Given the description of an element on the screen output the (x, y) to click on. 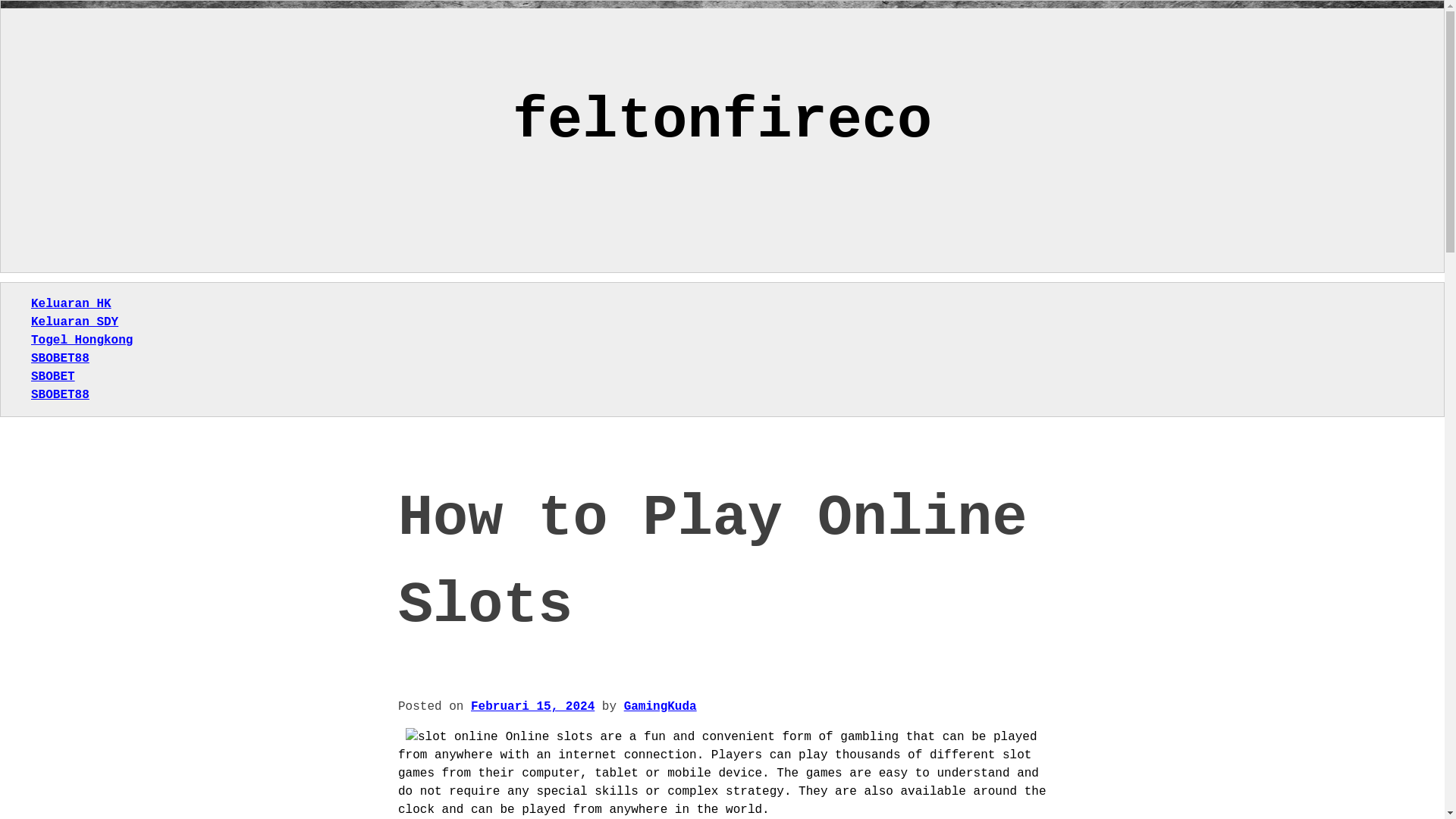
SBOBET (52, 377)
Keluaran SDY (73, 322)
feltonfireco (721, 120)
Februari 15, 2024 (532, 706)
SBOBET88 (59, 395)
Keluaran HK (71, 304)
SBOBET88 (59, 358)
Togel Hongkong (81, 340)
GamingKuda (660, 706)
